Given the description of an element on the screen output the (x, y) to click on. 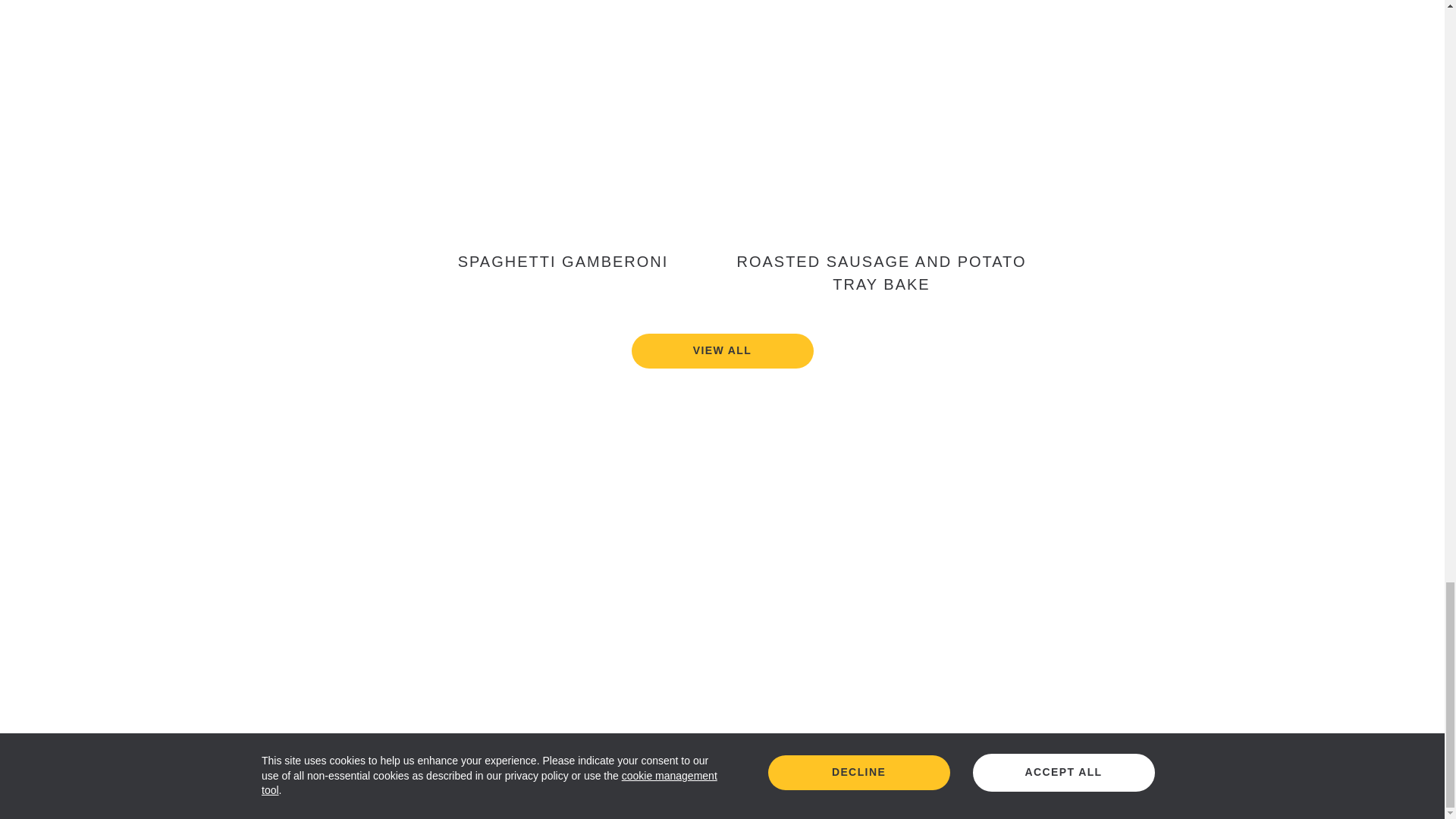
SPAGHETTI GAMBERONI (563, 147)
VIEW ALL (722, 350)
ROASTED SAUSAGE AND POTATO TRAY BAKE (881, 147)
